Given the description of an element on the screen output the (x, y) to click on. 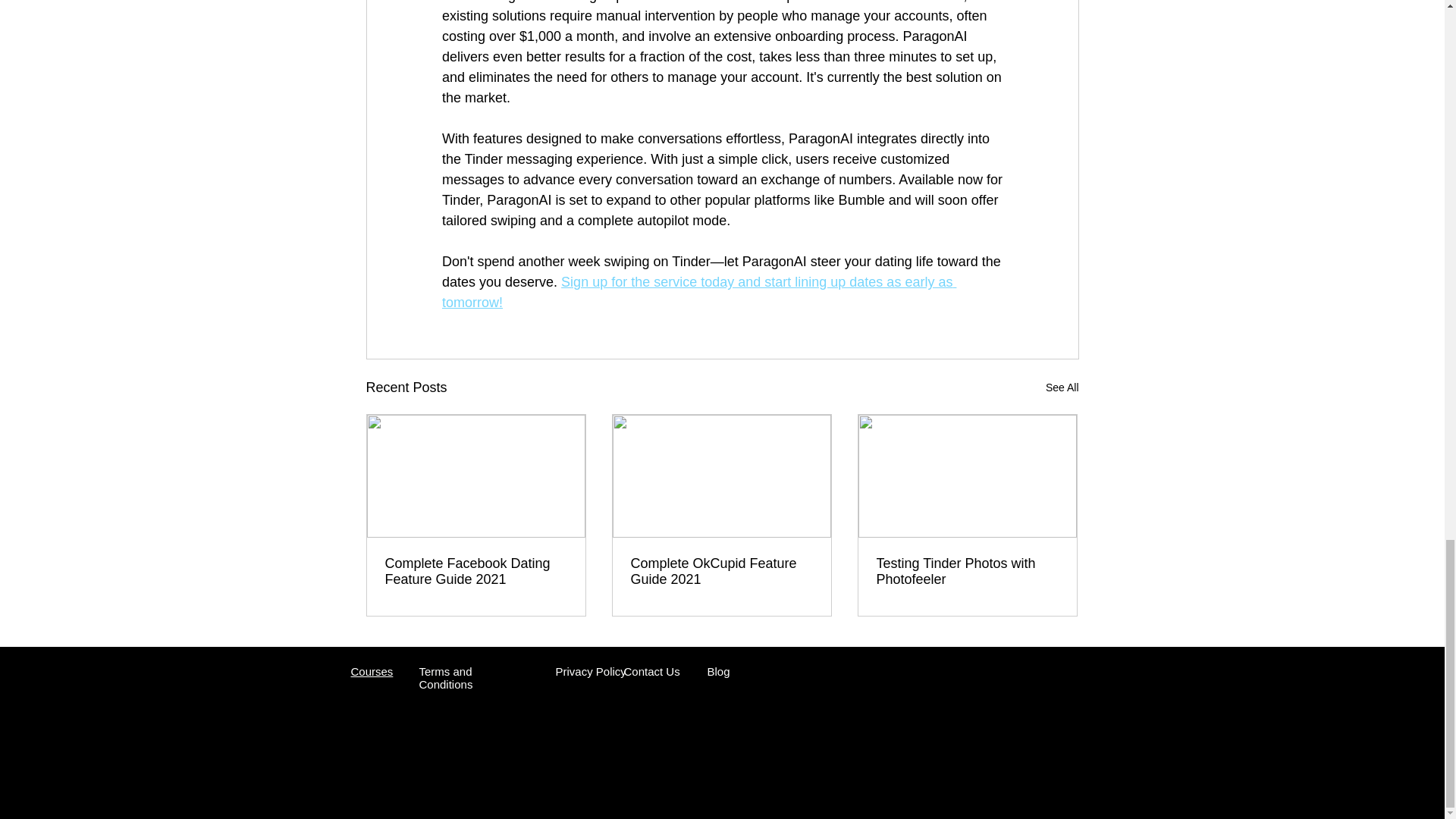
Terms and Conditions (445, 678)
Complete Facebook Dating Feature Guide 2021 (476, 572)
See All (1061, 387)
Testing Tinder Photos with Photofeeler (967, 572)
Blog (717, 671)
Complete OkCupid Feature Guide 2021 (721, 572)
Contact Us (651, 671)
Privacy Policy (590, 671)
Courses (371, 671)
